Given the description of an element on the screen output the (x, y) to click on. 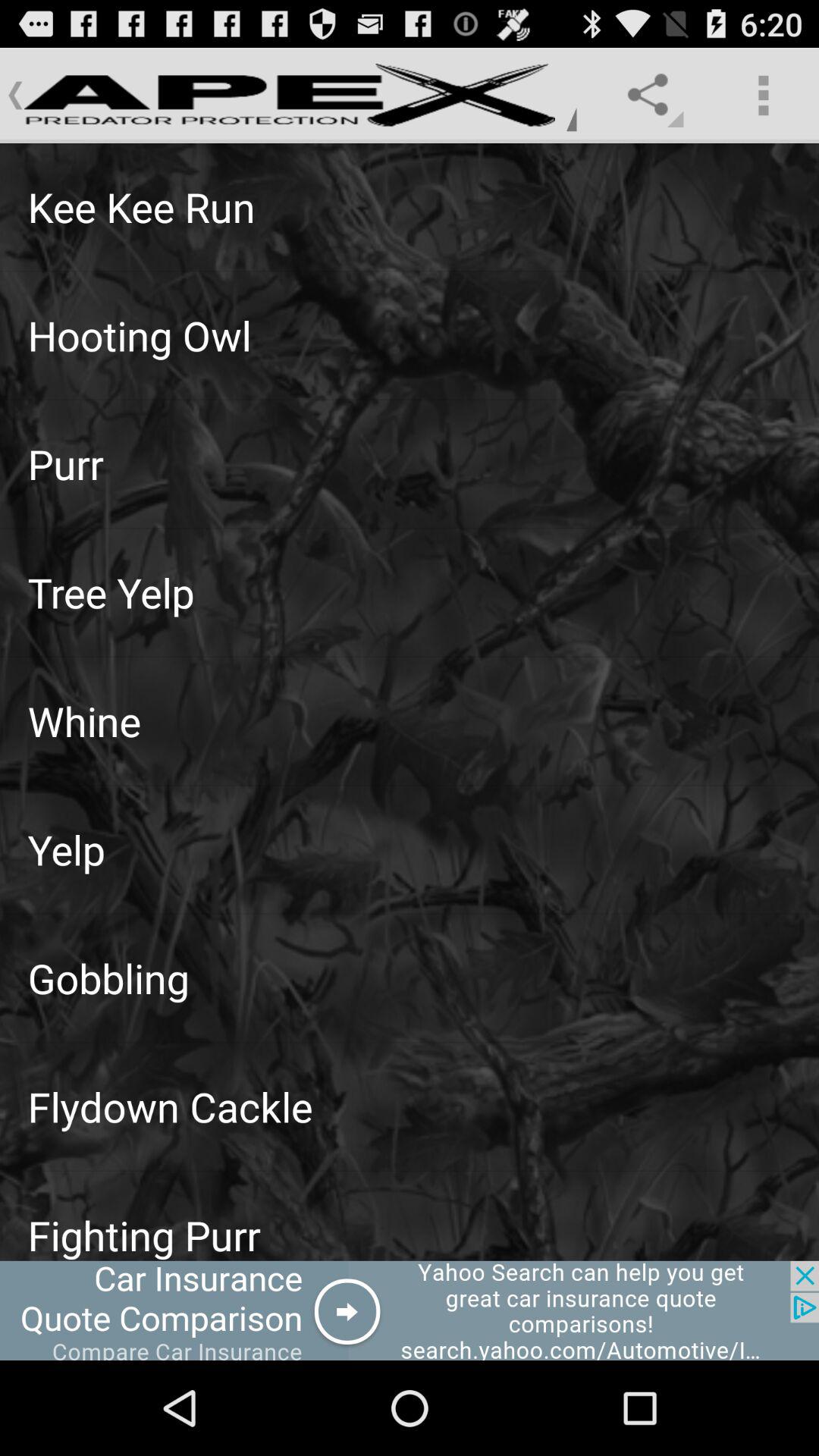
click for advertisement information (409, 1310)
